Given the description of an element on the screen output the (x, y) to click on. 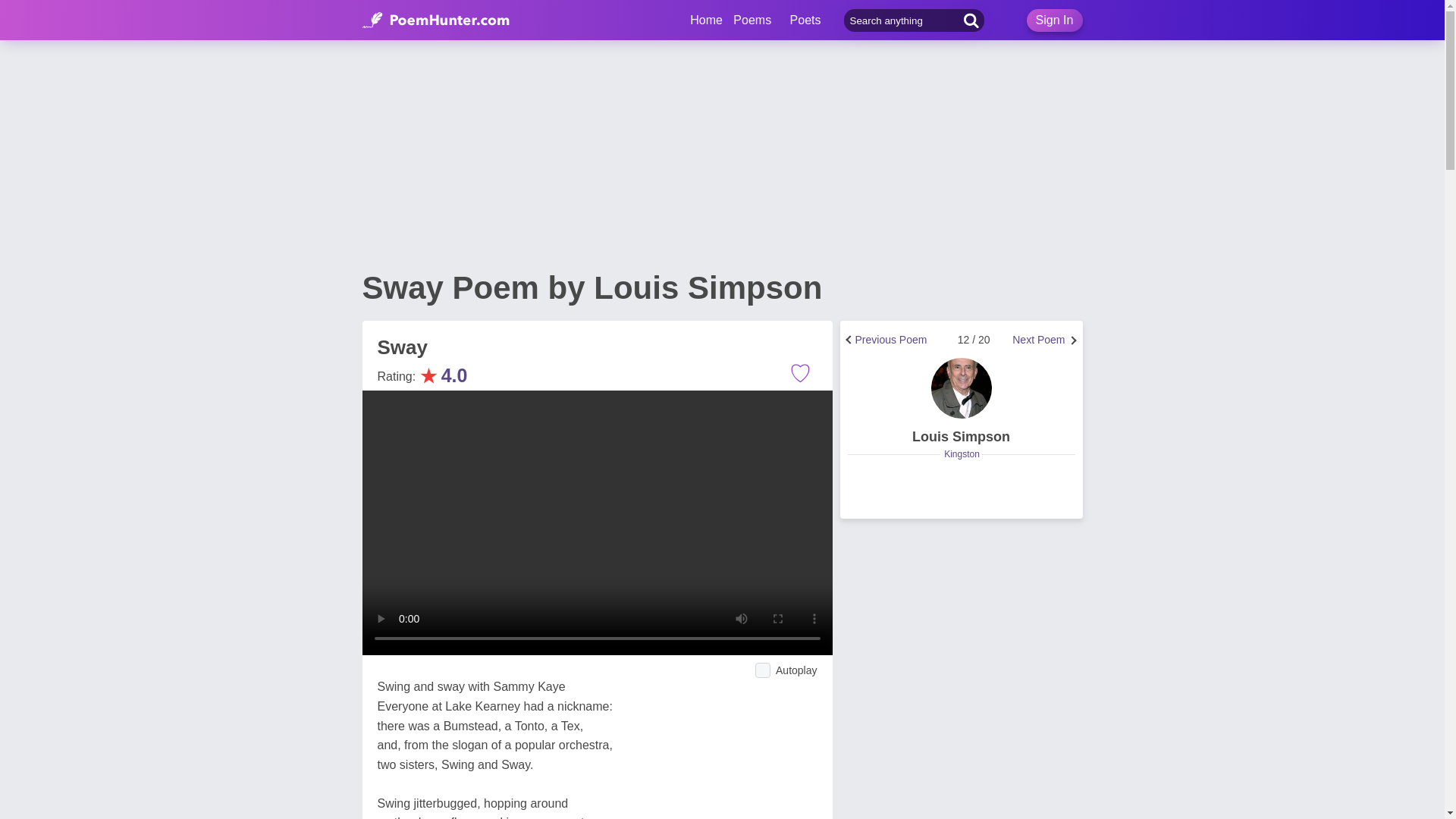
Sign In (1054, 19)
PoemHunter.com: Poems - Poets - Poetry (435, 20)
Home (706, 19)
PoemHunter.com: Poems - Poets - Poetry (706, 19)
